Given the description of an element on the screen output the (x, y) to click on. 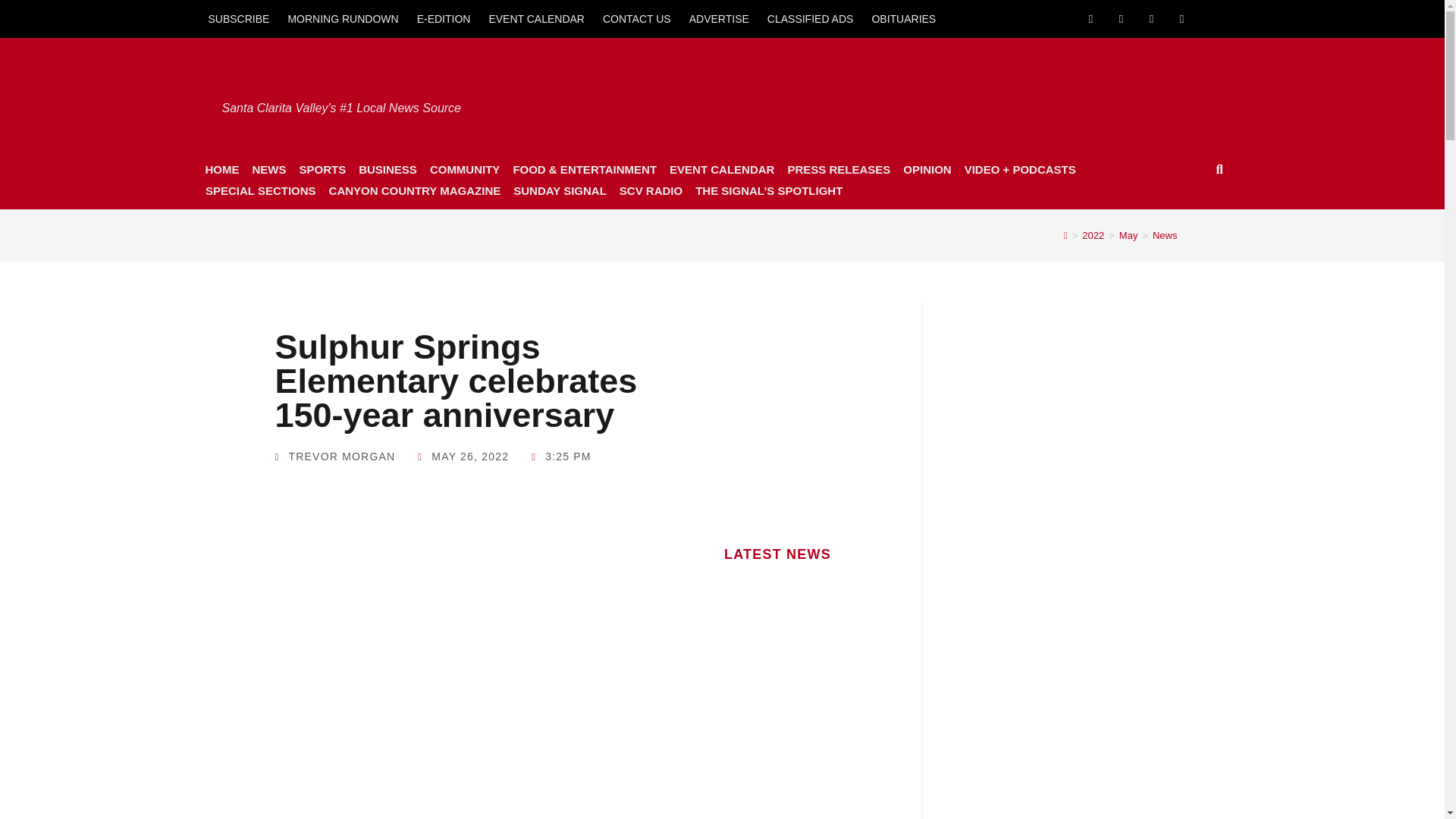
CLASSIFIED ADS (810, 18)
OBITUARIES (902, 18)
ADVERTISE (718, 18)
NEWS (269, 169)
SPORTS (322, 169)
EVENT CALENDAR (536, 18)
MORNING RUNDOWN (342, 18)
CONTACT US (636, 18)
HOME (221, 169)
SUBSCRIBE (238, 18)
E-EDITION (443, 18)
